Given the description of an element on the screen output the (x, y) to click on. 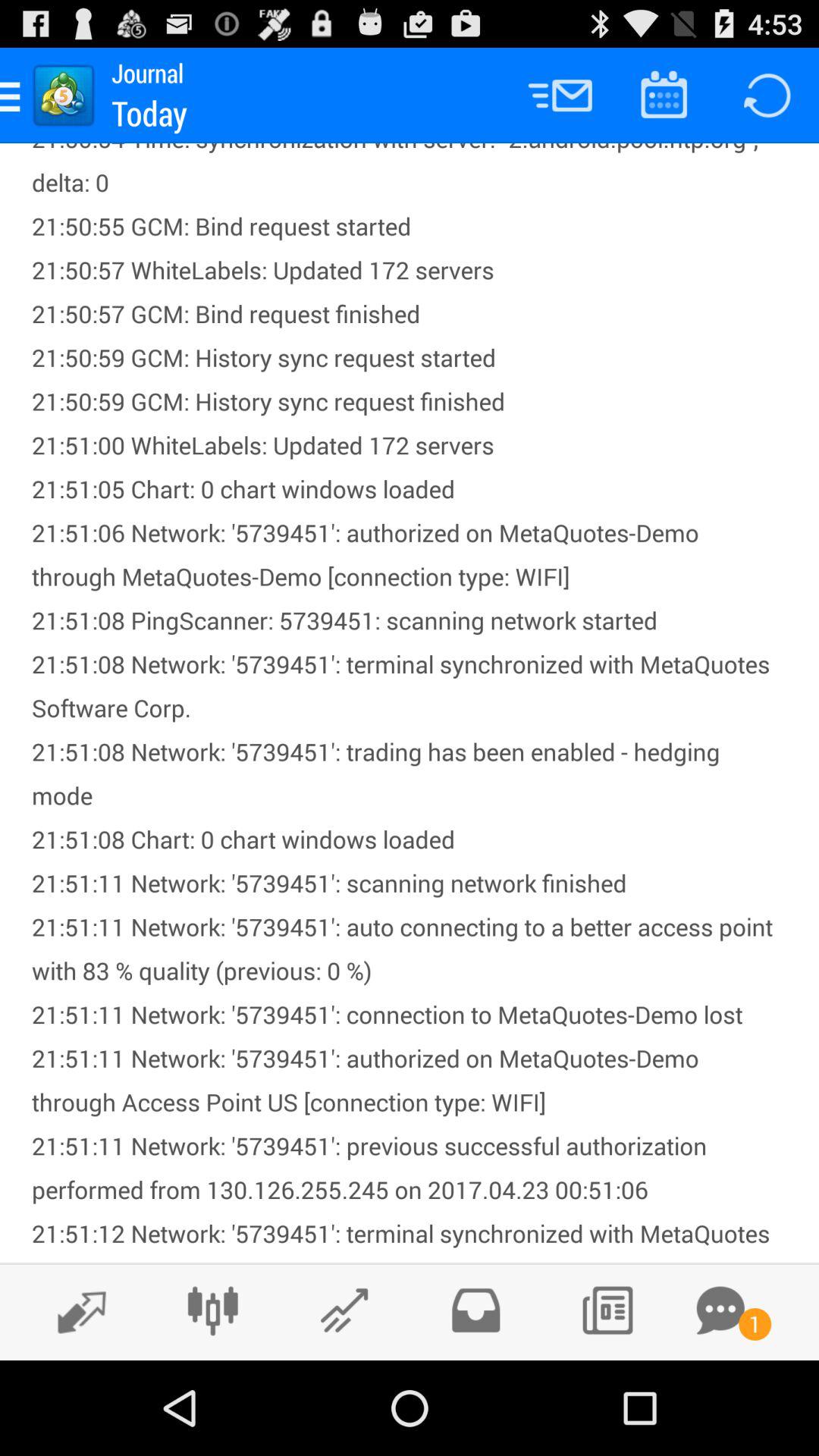
open inbox (475, 1310)
